Given the description of an element on the screen output the (x, y) to click on. 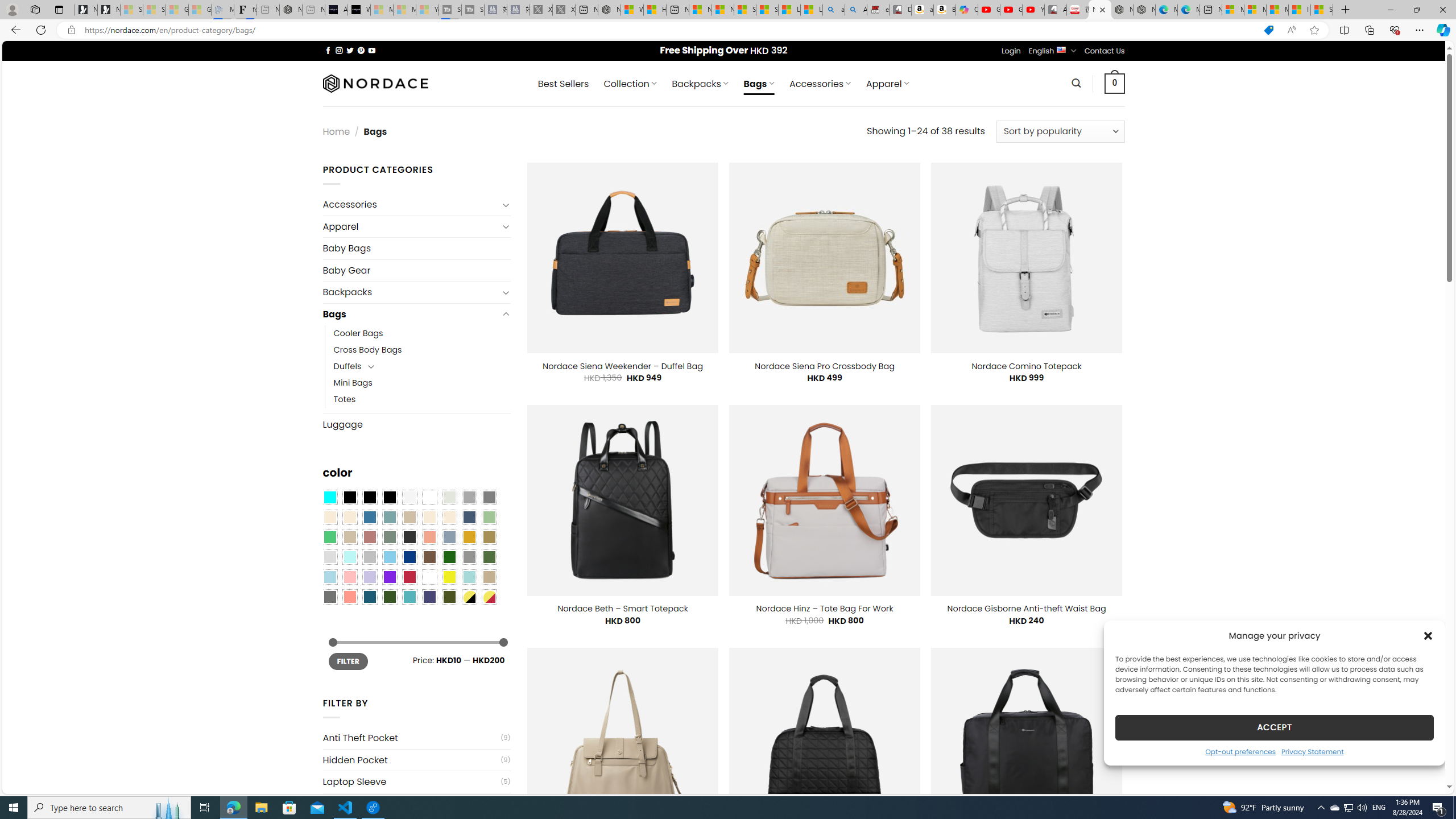
Bags (410, 314)
Nordace (374, 83)
Sky Blue (389, 557)
Gray (468, 557)
Nordace - Nordace has arrived Hong Kong (1144, 9)
Baby Gear (416, 270)
Class: cmplz-close (1428, 635)
Opt-out preferences (1240, 750)
Luggage (416, 424)
Anti Theft Pocket(9) (416, 738)
